Given the description of an element on the screen output the (x, y) to click on. 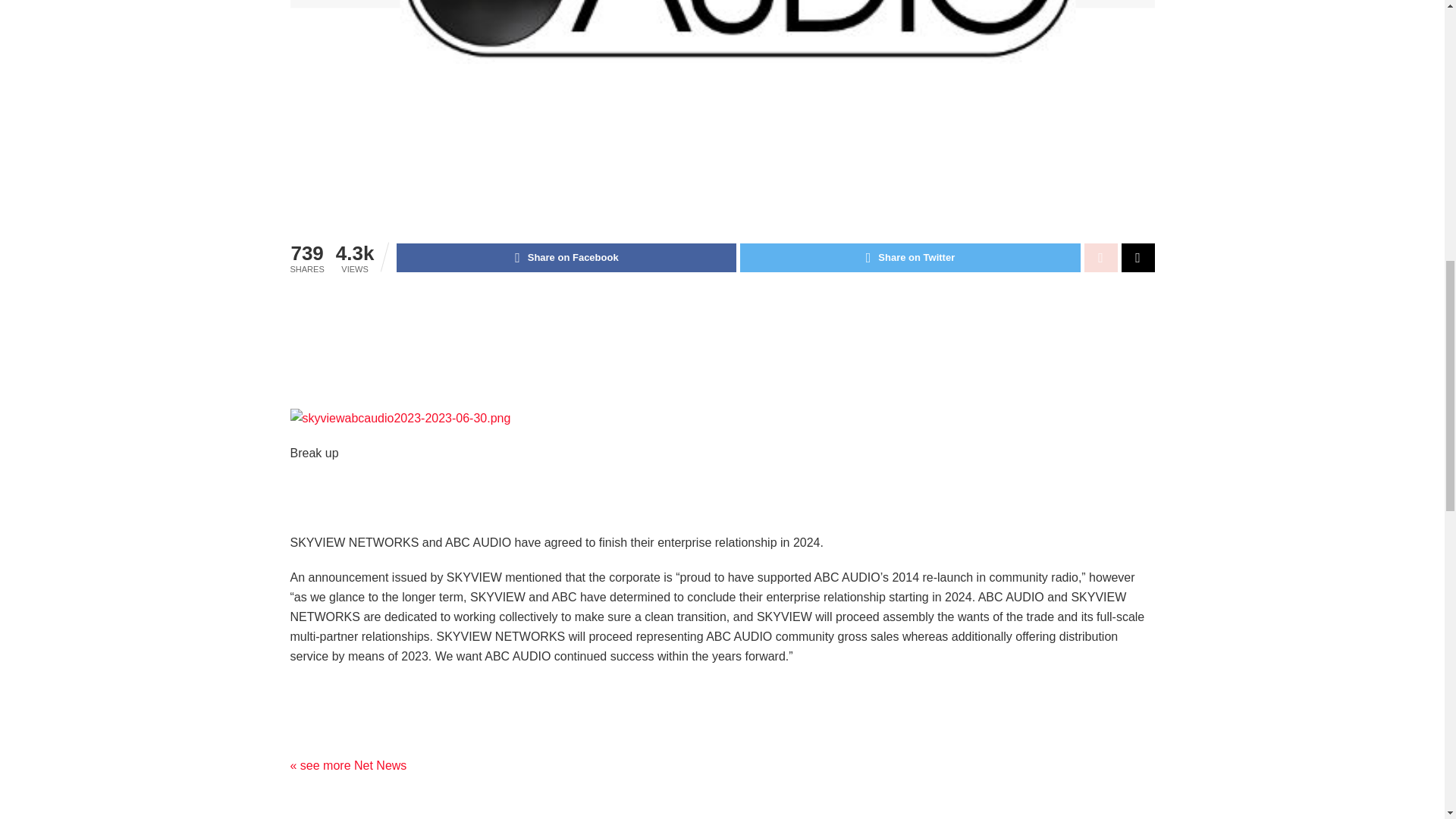
Share on Facebook (566, 257)
Share on Twitter (909, 257)
